Given the description of an element on the screen output the (x, y) to click on. 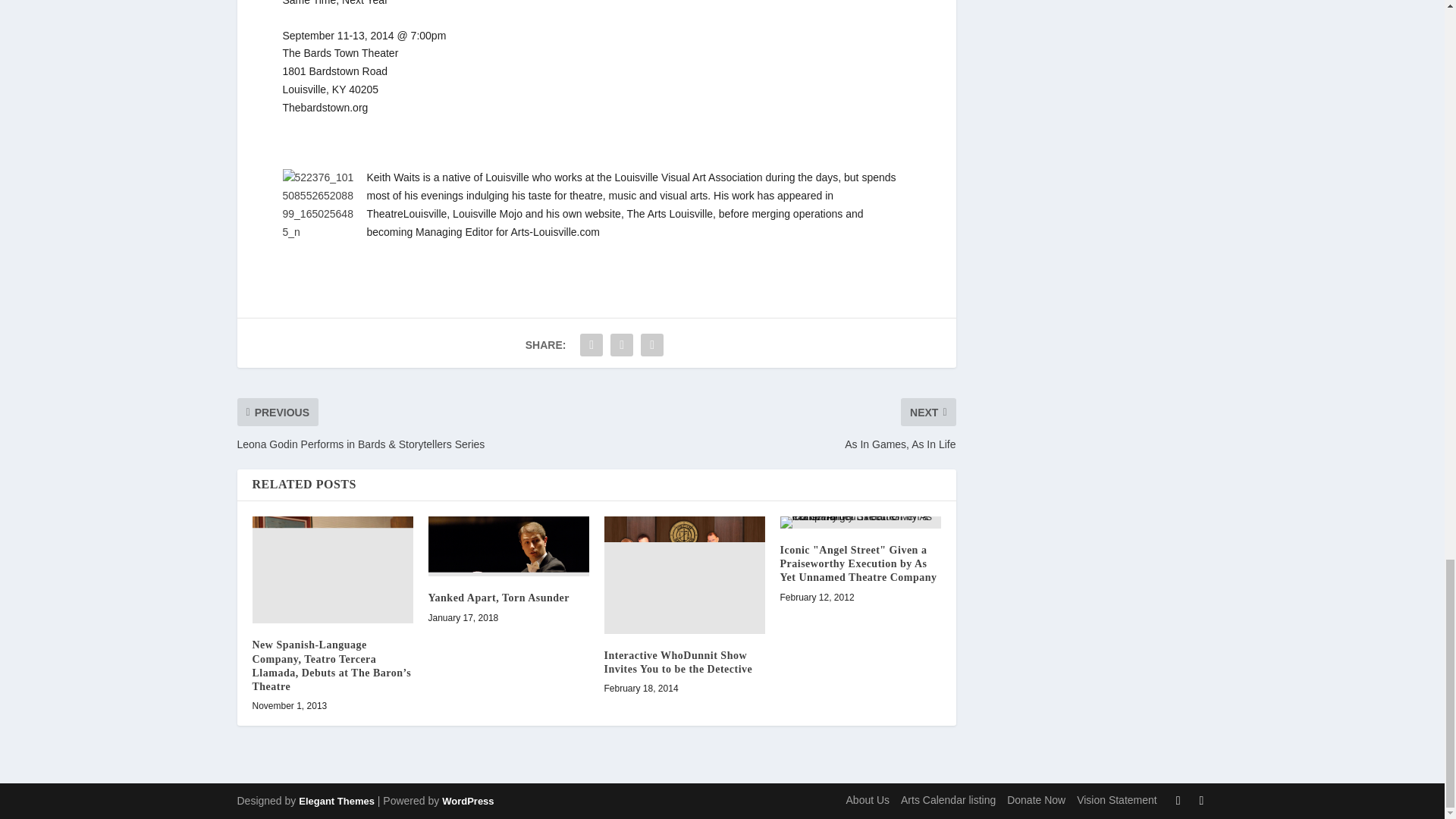
Yanked Apart, Torn Asunder (508, 546)
Share "The Comfort of Infidelity" via Facebook (591, 345)
Premium WordPress Themes (336, 800)
Share "The Comfort of Infidelity" via Twitter (622, 345)
Interactive WhoDunnit Show Invites You to be the Detective (684, 574)
Share "The Comfort of Infidelity" via Email (651, 345)
